Given the description of an element on the screen output the (x, y) to click on. 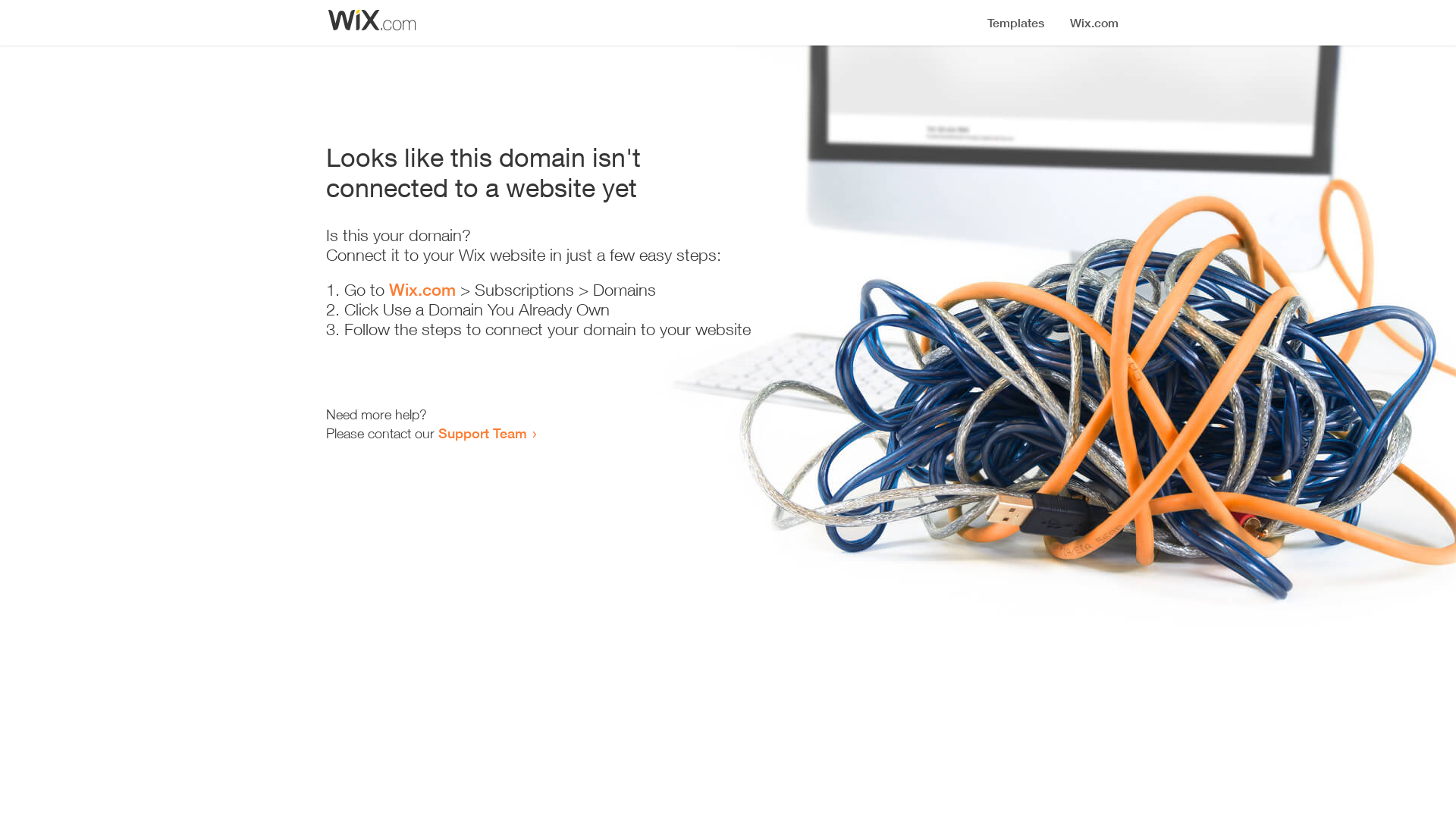
Support Team Element type: text (482, 432)
Wix.com Element type: text (422, 289)
